Given the description of an element on the screen output the (x, y) to click on. 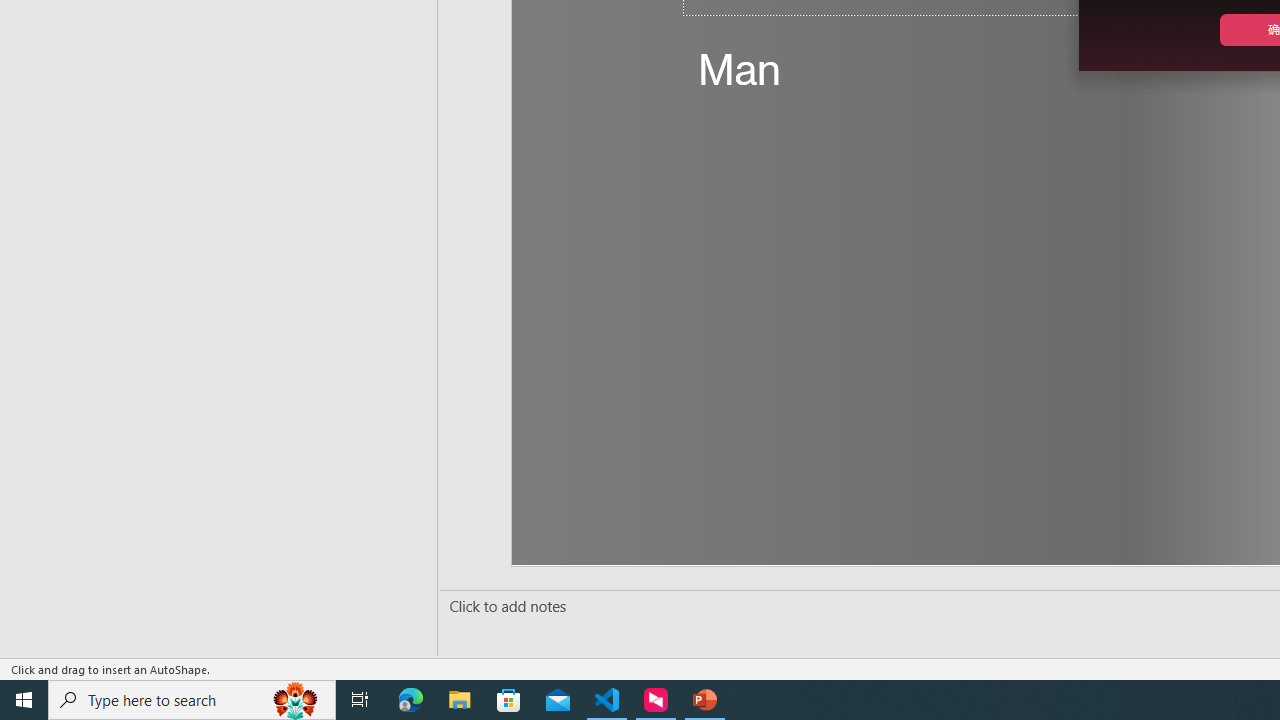
Microsoft Edge (411, 699)
